Given the description of an element on the screen output the (x, y) to click on. 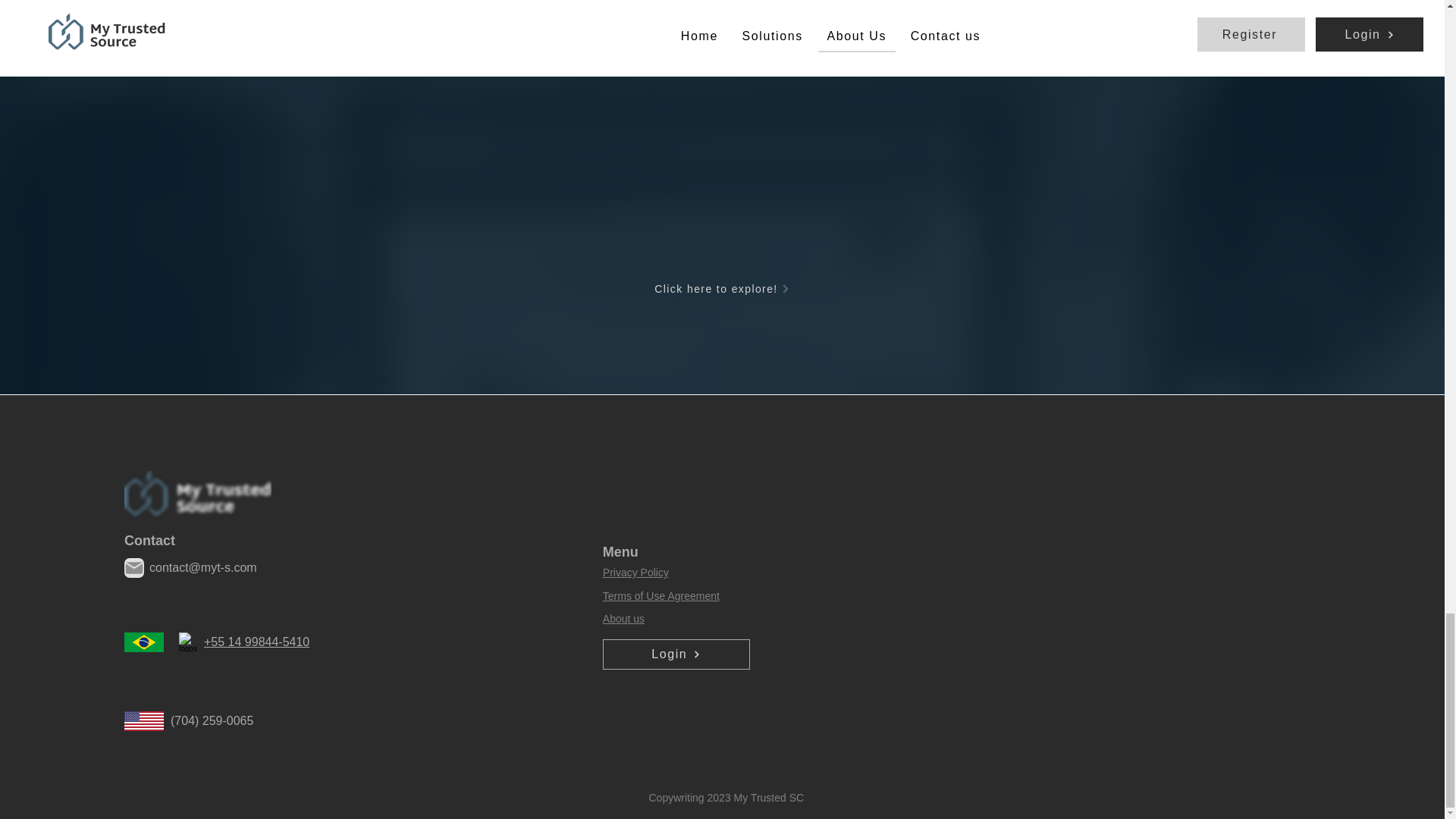
Terms of Use Agreement (660, 595)
Copywriting 2023 My Trusted SC (727, 797)
Privacy Policy (635, 572)
Click here to explore! (722, 288)
Login (675, 654)
About us (623, 618)
image.png (196, 496)
